Given the description of an element on the screen output the (x, y) to click on. 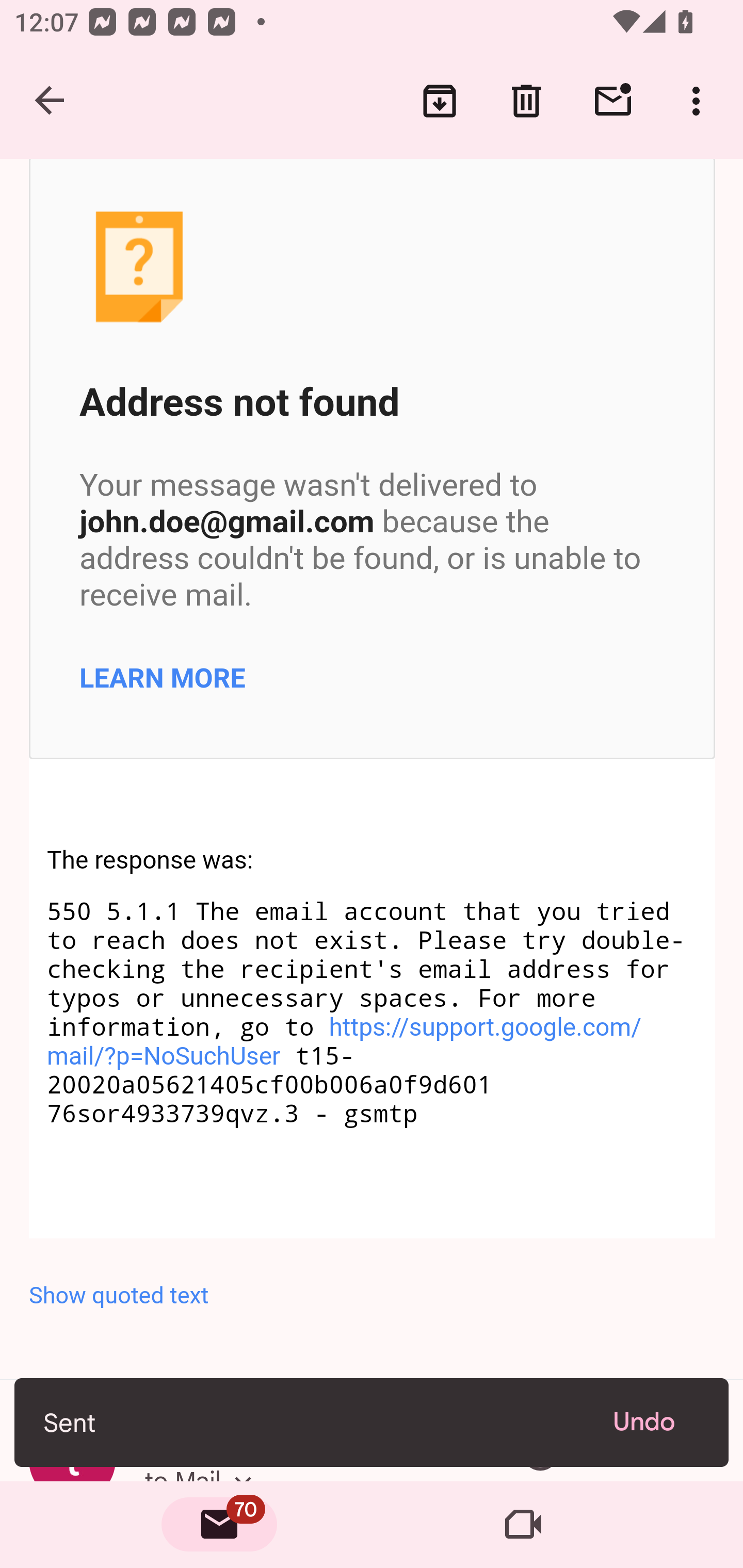
Navigate up (50, 101)
Archive (439, 101)
Delete (525, 101)
Mark unread (612, 101)
More options (699, 101)
LEARN MORE (162, 677)
Show quoted text (372, 1295)
Undo (655, 1422)
Meet (523, 1524)
